Given the description of an element on the screen output the (x, y) to click on. 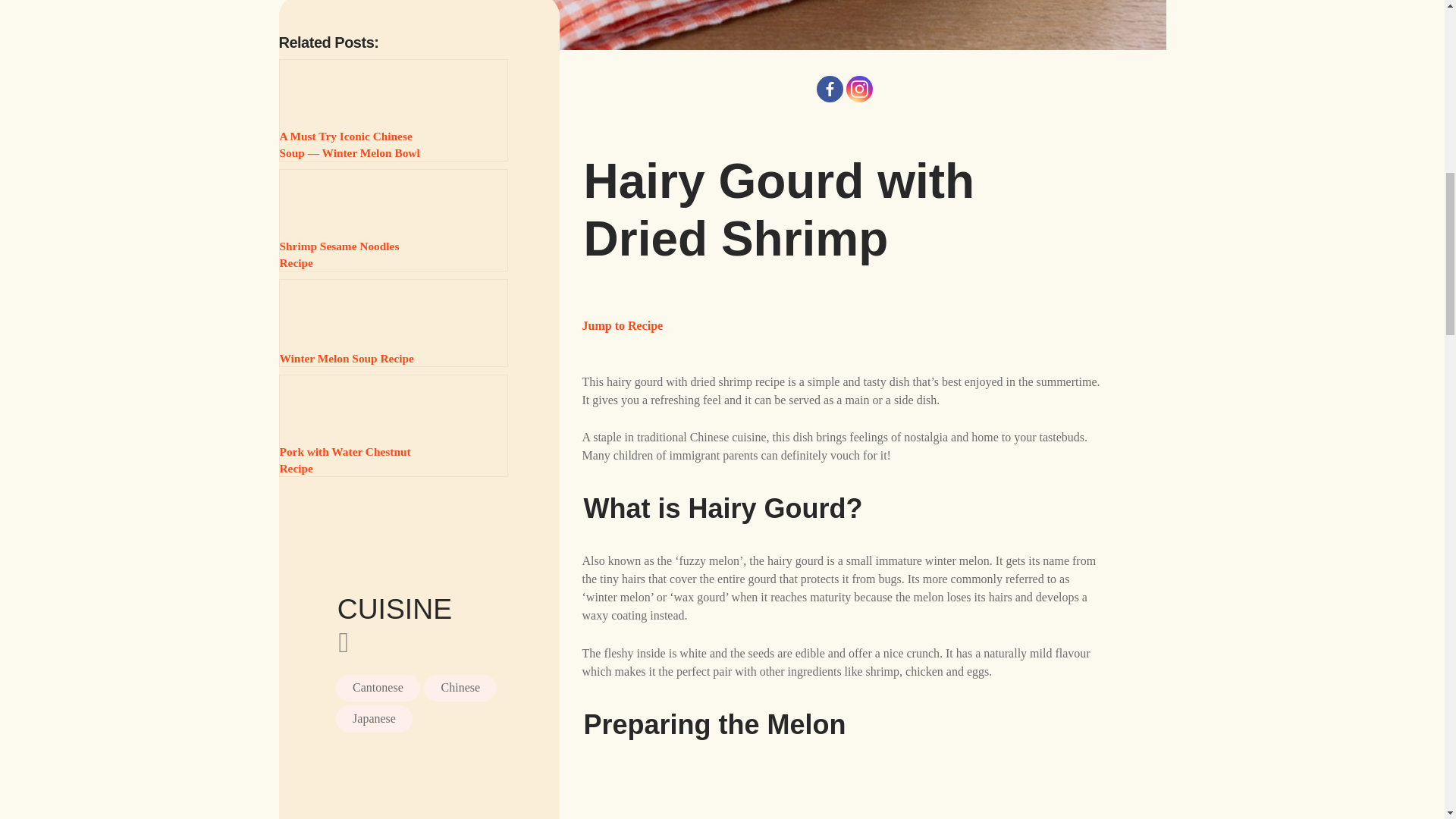
Facebook (829, 89)
Shrimp Sesame Noodles Recipe (393, 219)
Winter Melon Soup Recipe (393, 322)
Instagram (858, 89)
Hairy Gourd with Dried Shrimp Recipe (727, 24)
Pork with Water Chestnut Recipe (393, 425)
